Given the description of an element on the screen output the (x, y) to click on. 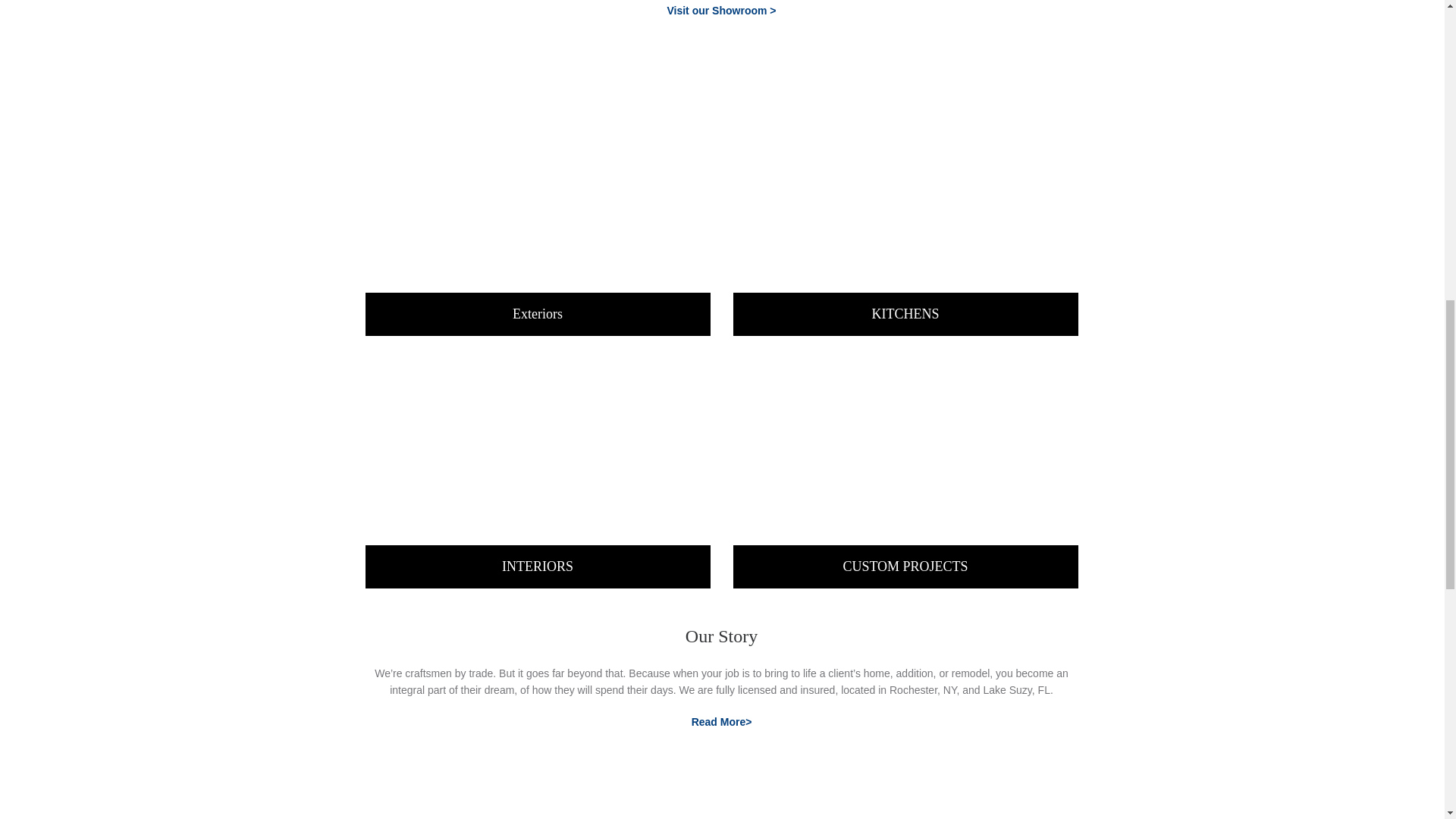
KITCHENS (905, 313)
INTERIORS (537, 566)
CUSTOM PROJECTS (905, 566)
Exteriors (537, 313)
